Given the description of an element on the screen output the (x, y) to click on. 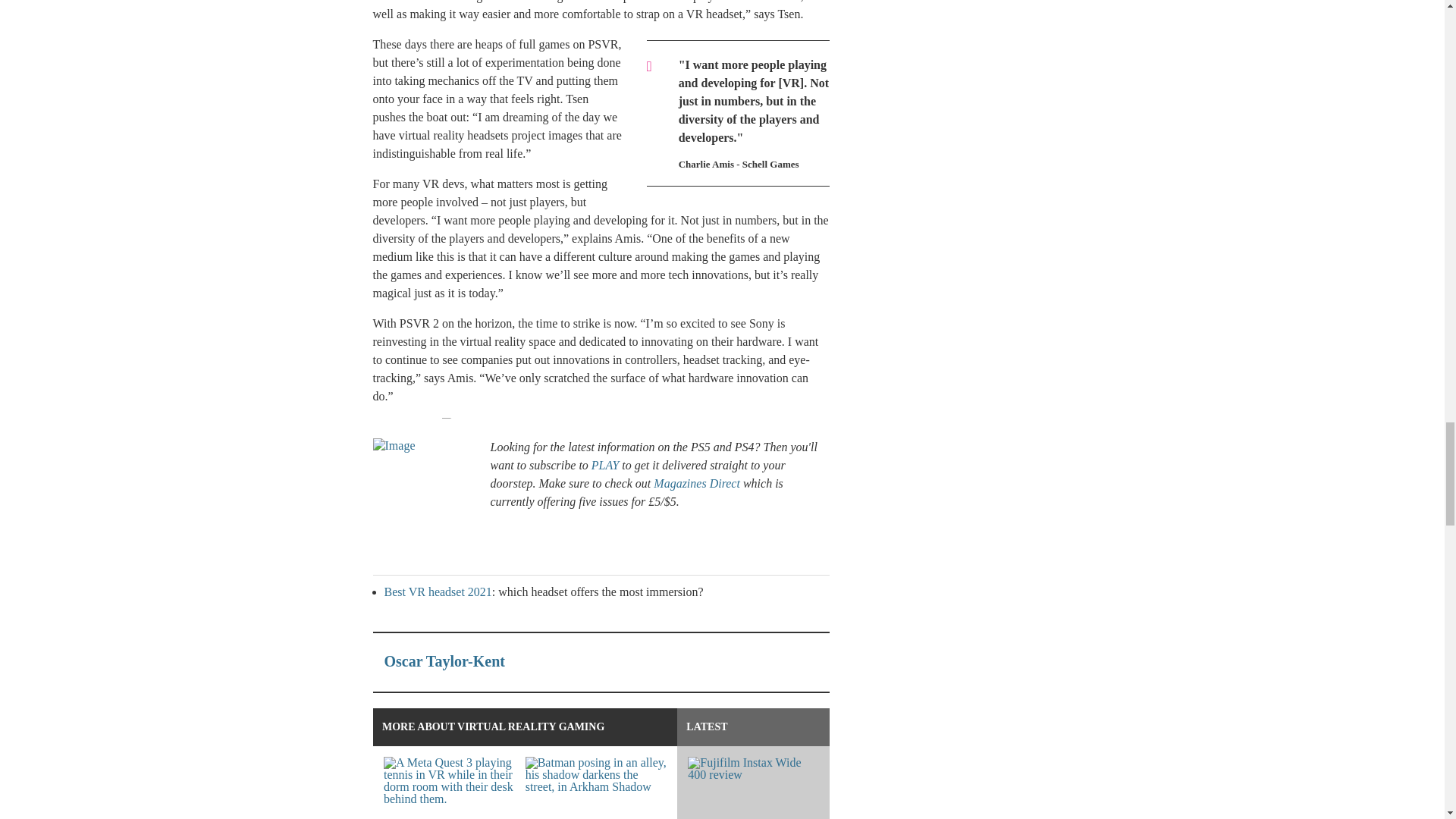
Image (425, 495)
